Given the description of an element on the screen output the (x, y) to click on. 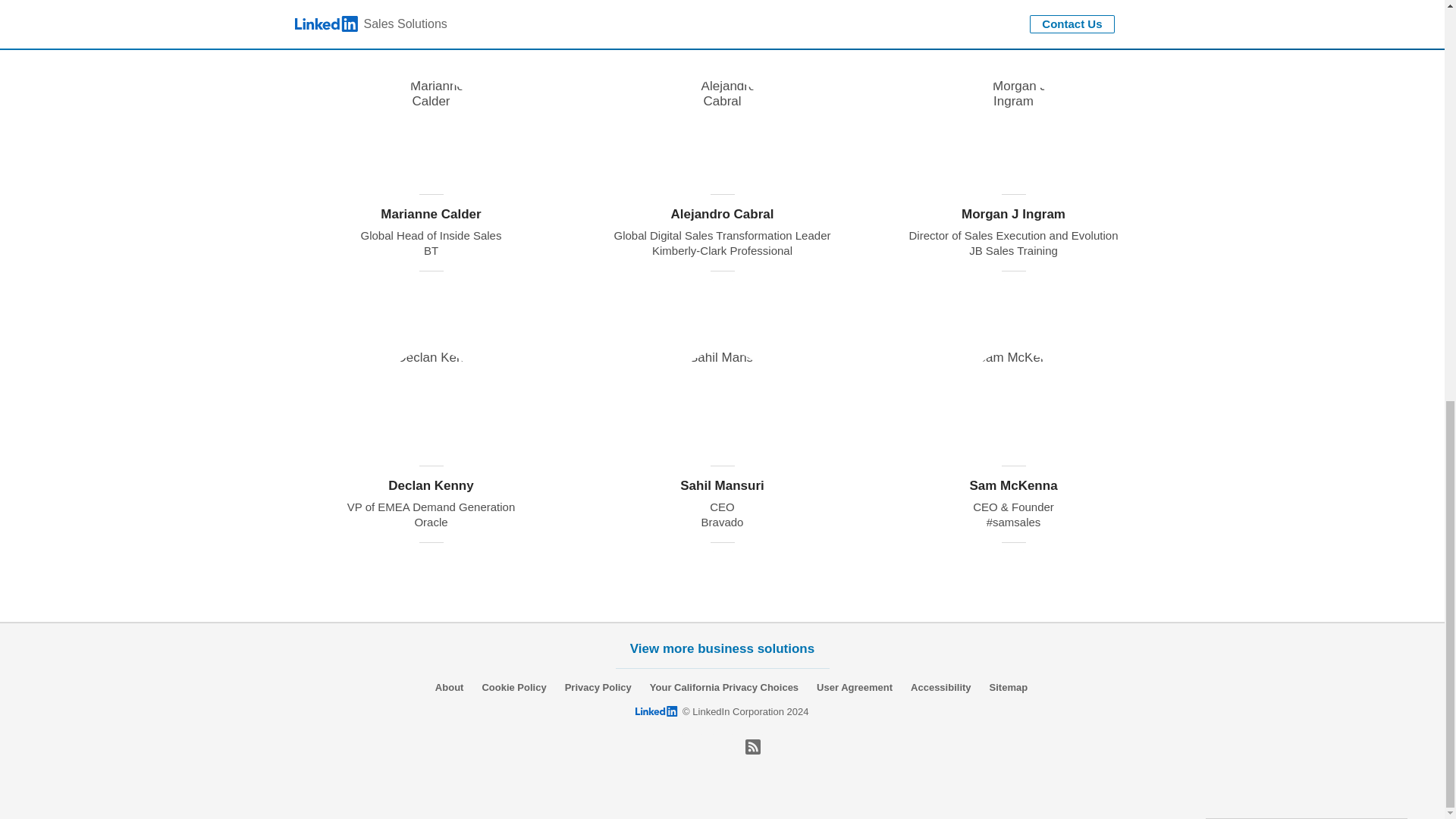
User Agreement (854, 687)
Your California Privacy Choices (723, 687)
Sitemap (1008, 687)
Declan Kenny (429, 563)
Alejandro Cabral (721, 292)
Sahil Mansuri (721, 563)
Cookie Policy (513, 687)
Privacy Policy (597, 687)
Marianne Calder (429, 292)
About (449, 687)
